Given the description of an element on the screen output the (x, y) to click on. 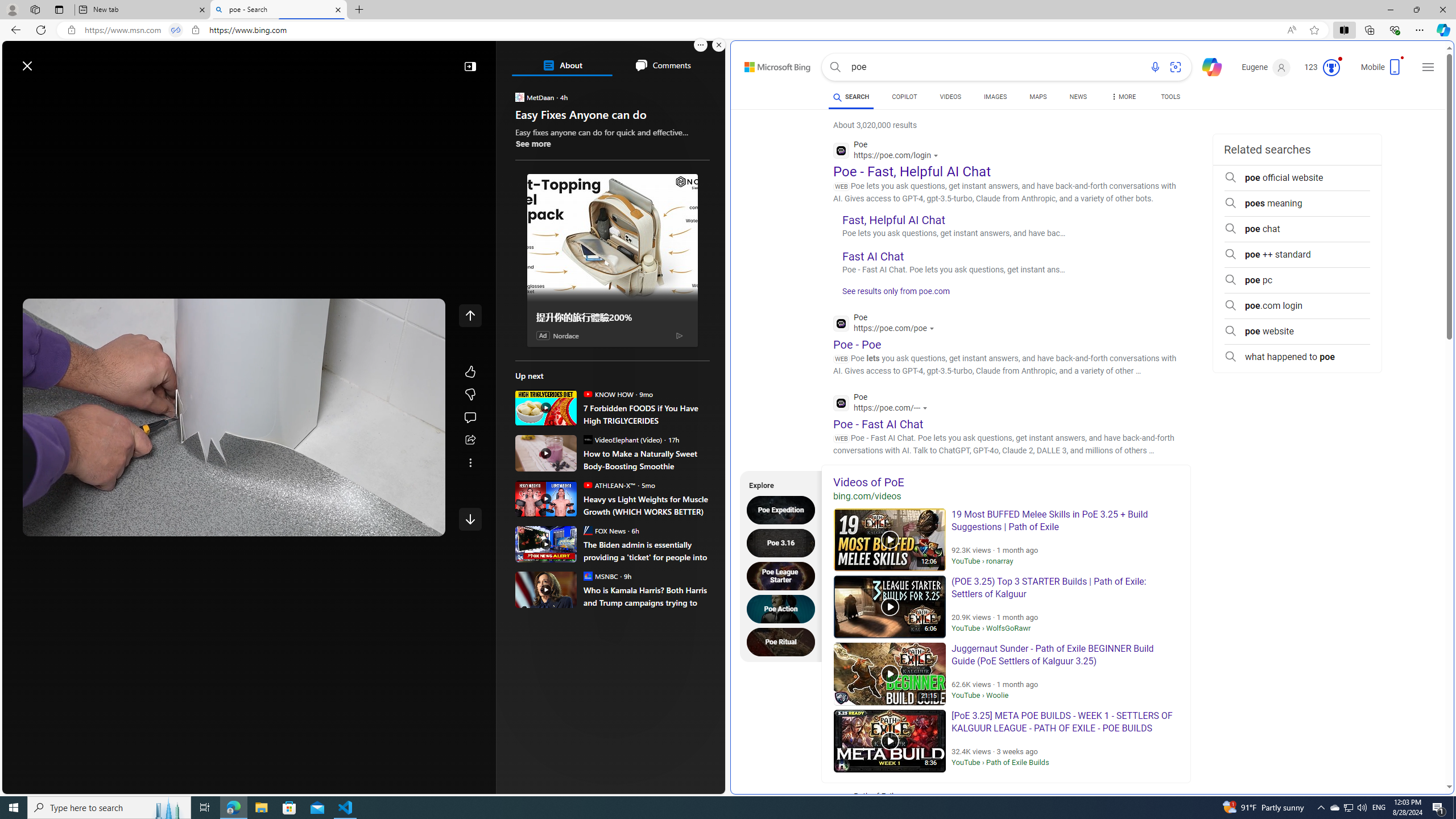
Fast AI Chat (873, 255)
About (561, 64)
poe official website (1297, 177)
Pause (39, 523)
Videos of PoE (1005, 481)
Search more (1423, 753)
Poe Expedition (783, 509)
